Given the description of an element on the screen output the (x, y) to click on. 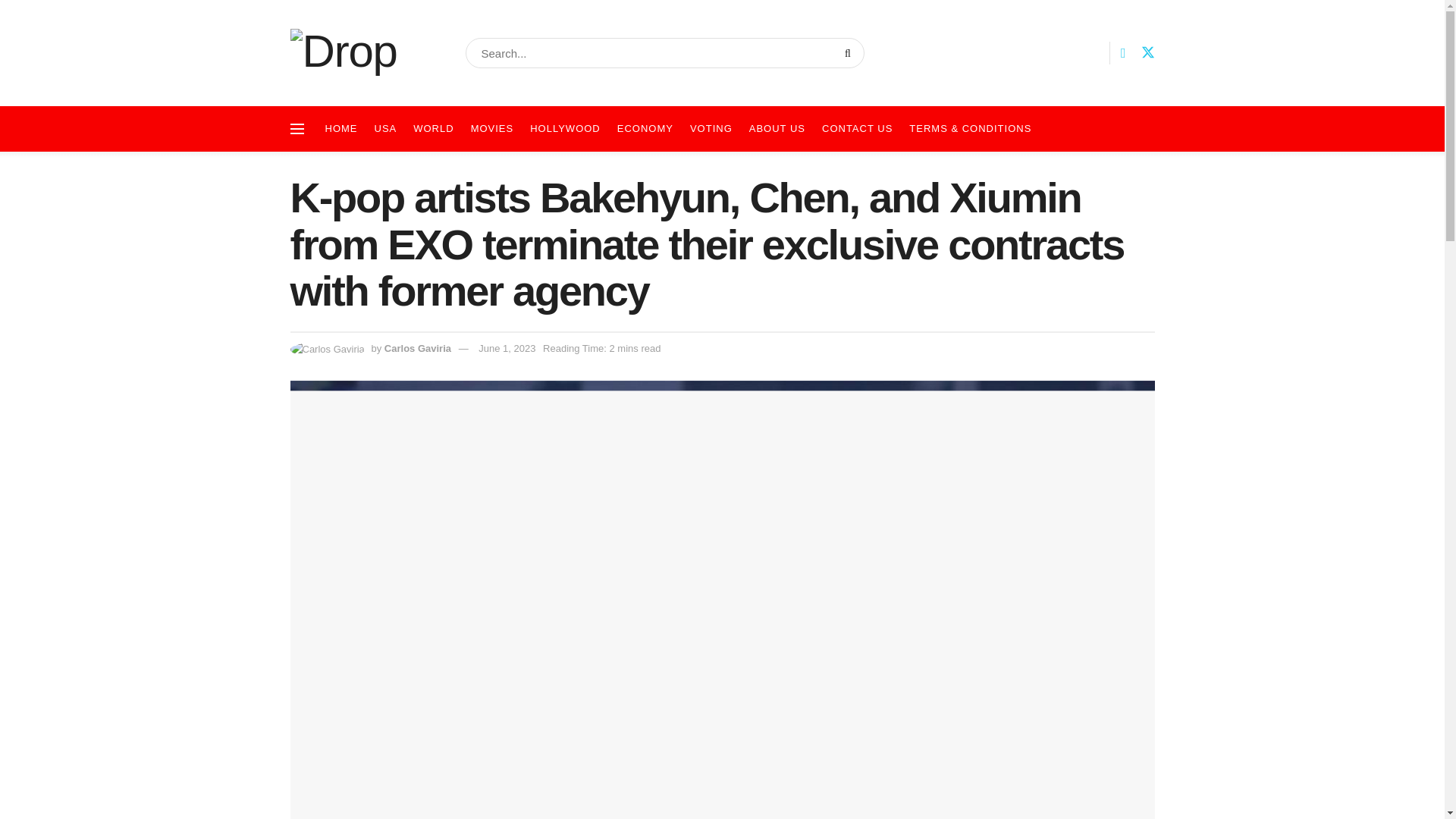
HOLLYWOOD (564, 128)
Carlos Gaviria (417, 348)
June 1, 2023 (507, 348)
ECONOMY (644, 128)
CONTACT US (857, 128)
MOVIES (491, 128)
VOTING (711, 128)
ABOUT US (777, 128)
